Given the description of an element on the screen output the (x, y) to click on. 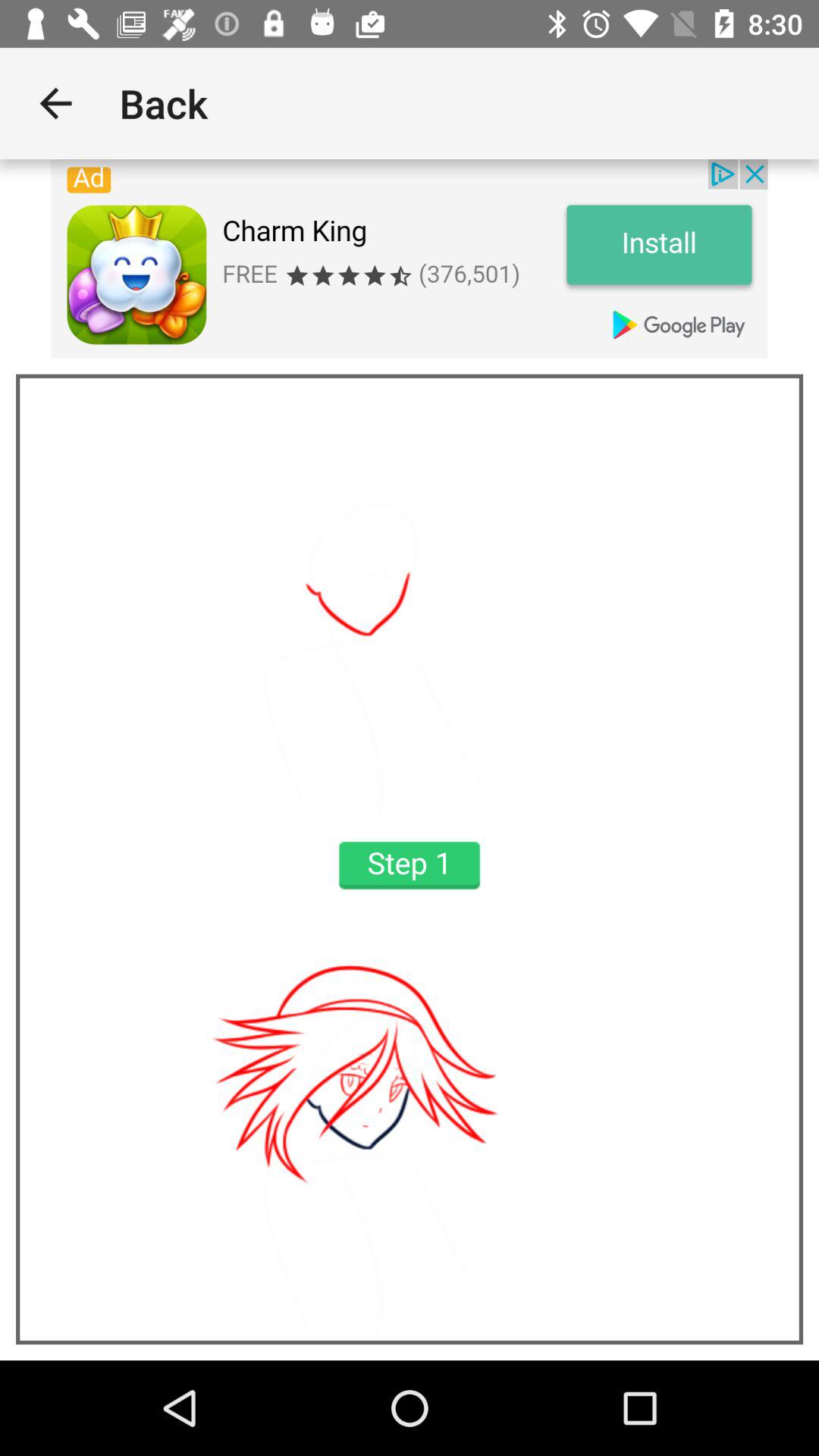
install game (409, 258)
